Given the description of an element on the screen output the (x, y) to click on. 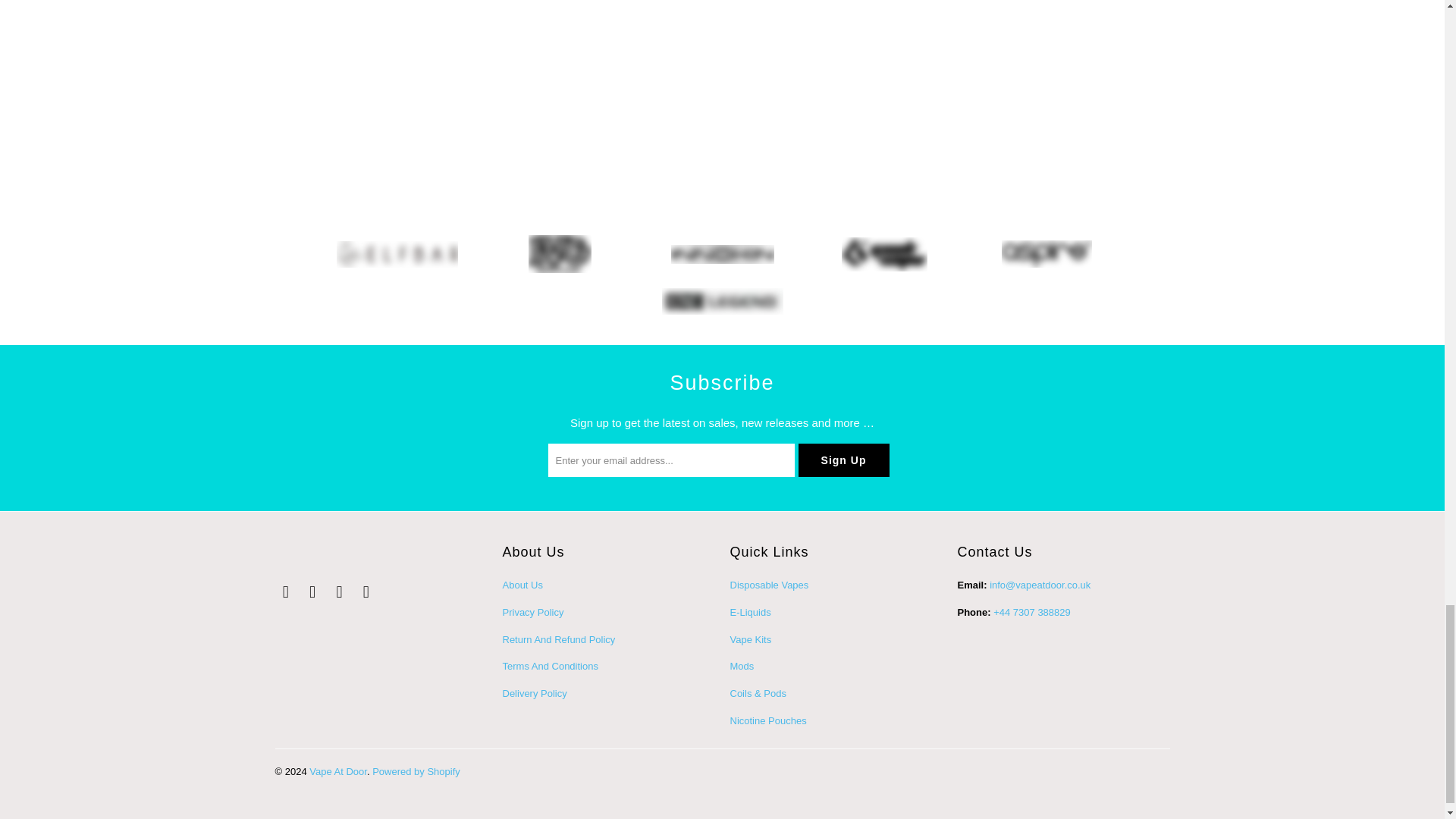
Vape At Door on Pinterest (339, 592)
Vape At Door Official Email Address (1040, 584)
Vape At Door on Instagram (366, 592)
Vape At Door on Twitter (286, 592)
Vape At Door on Facebook (312, 592)
Sign Up (842, 459)
